Given the description of an element on the screen output the (x, y) to click on. 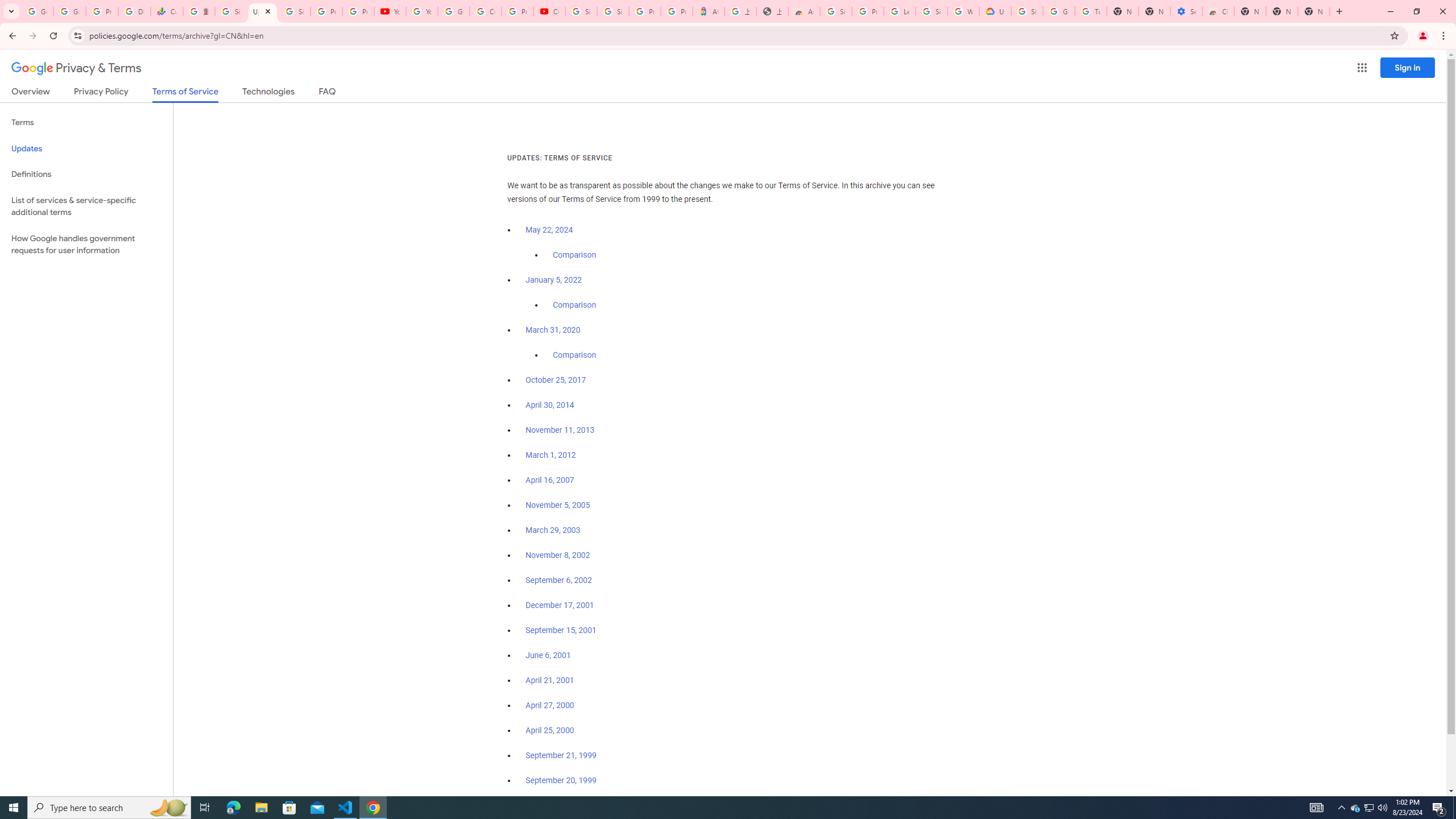
December 17, 2001 (559, 605)
April 21, 2001 (550, 679)
Privacy Checkup (358, 11)
March 1, 2012 (550, 455)
